Given the description of an element on the screen output the (x, y) to click on. 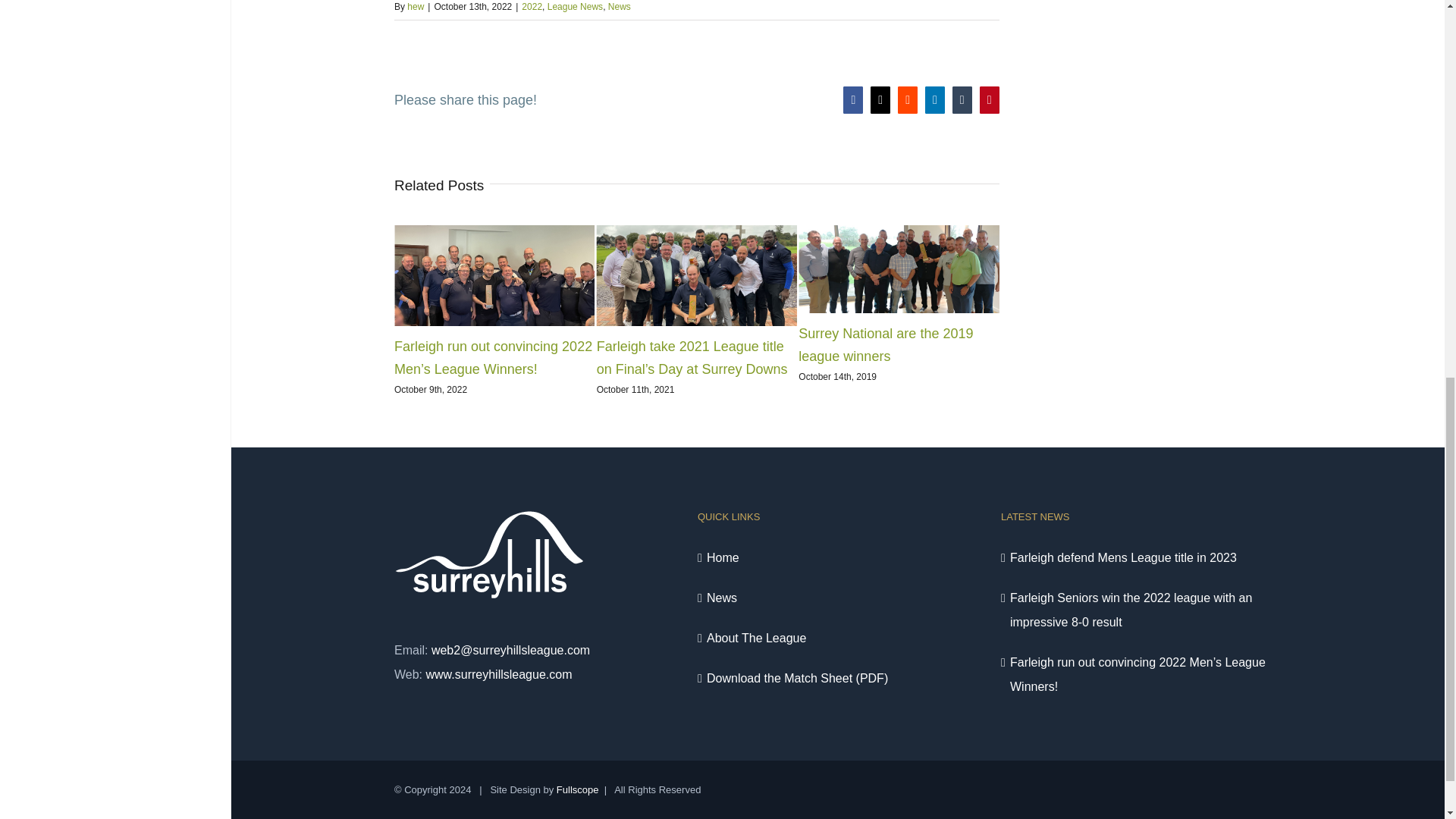
Posts by hew (415, 6)
Surrey National are the 2019 league winners (884, 344)
